Given the description of an element on the screen output the (x, y) to click on. 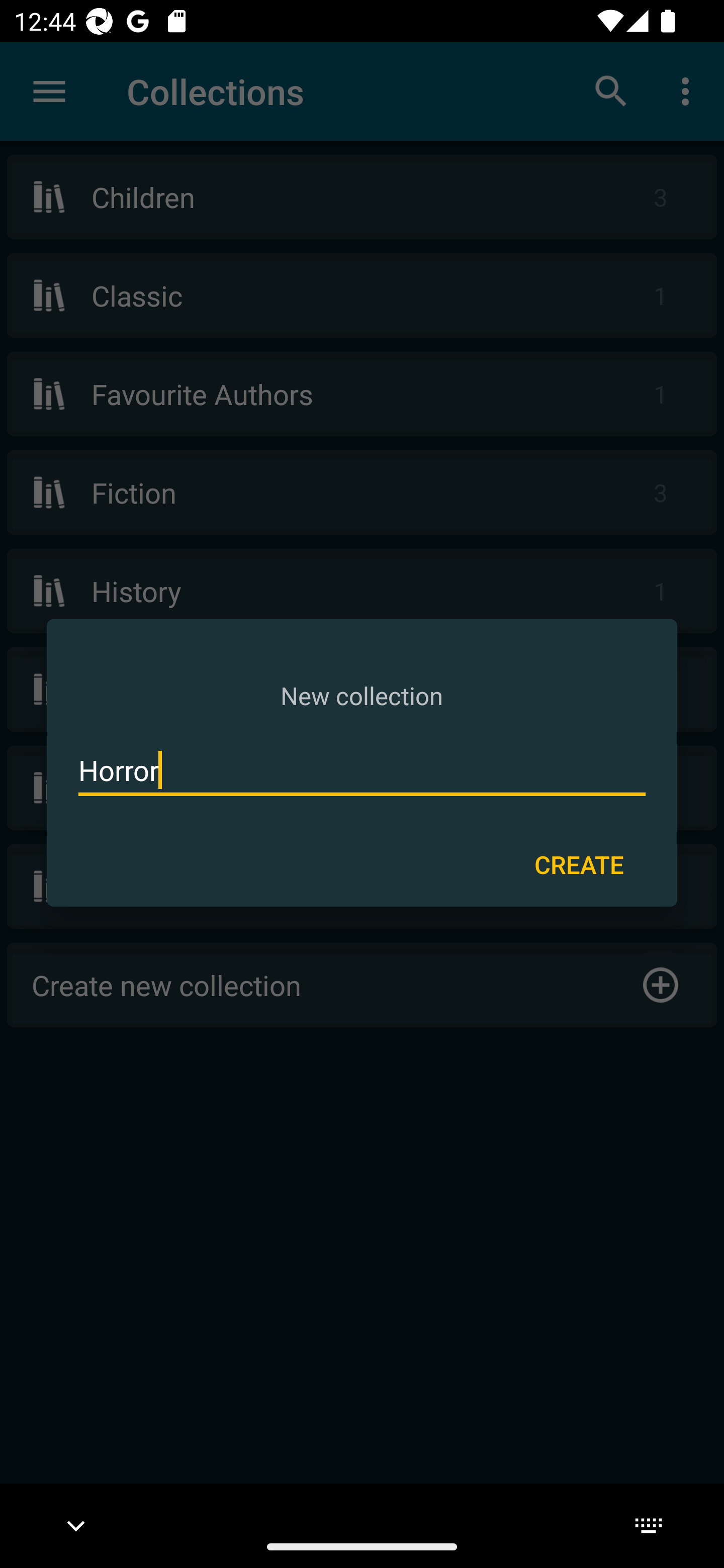
Horror (361, 770)
CREATE (578, 863)
